Given the description of an element on the screen output the (x, y) to click on. 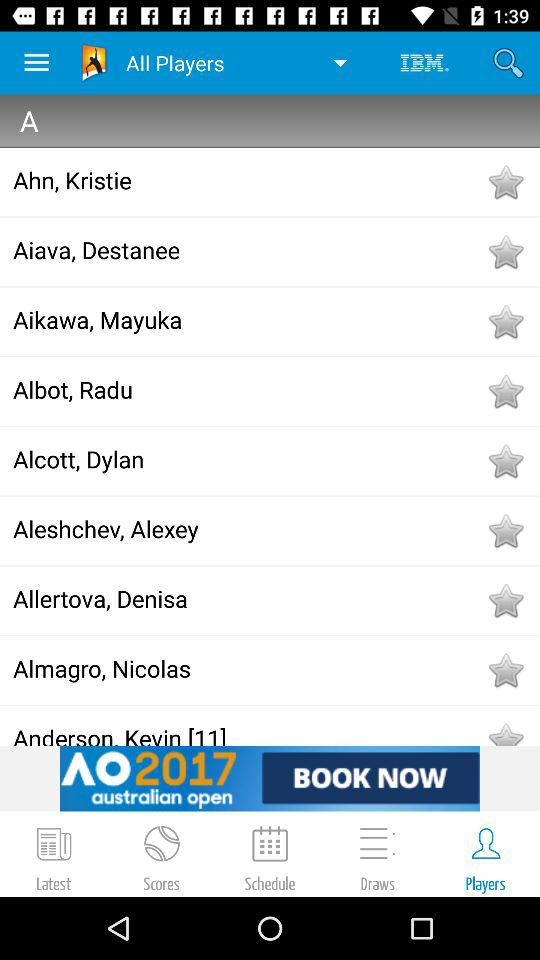
add to favorites (505, 531)
